Given the description of an element on the screen output the (x, y) to click on. 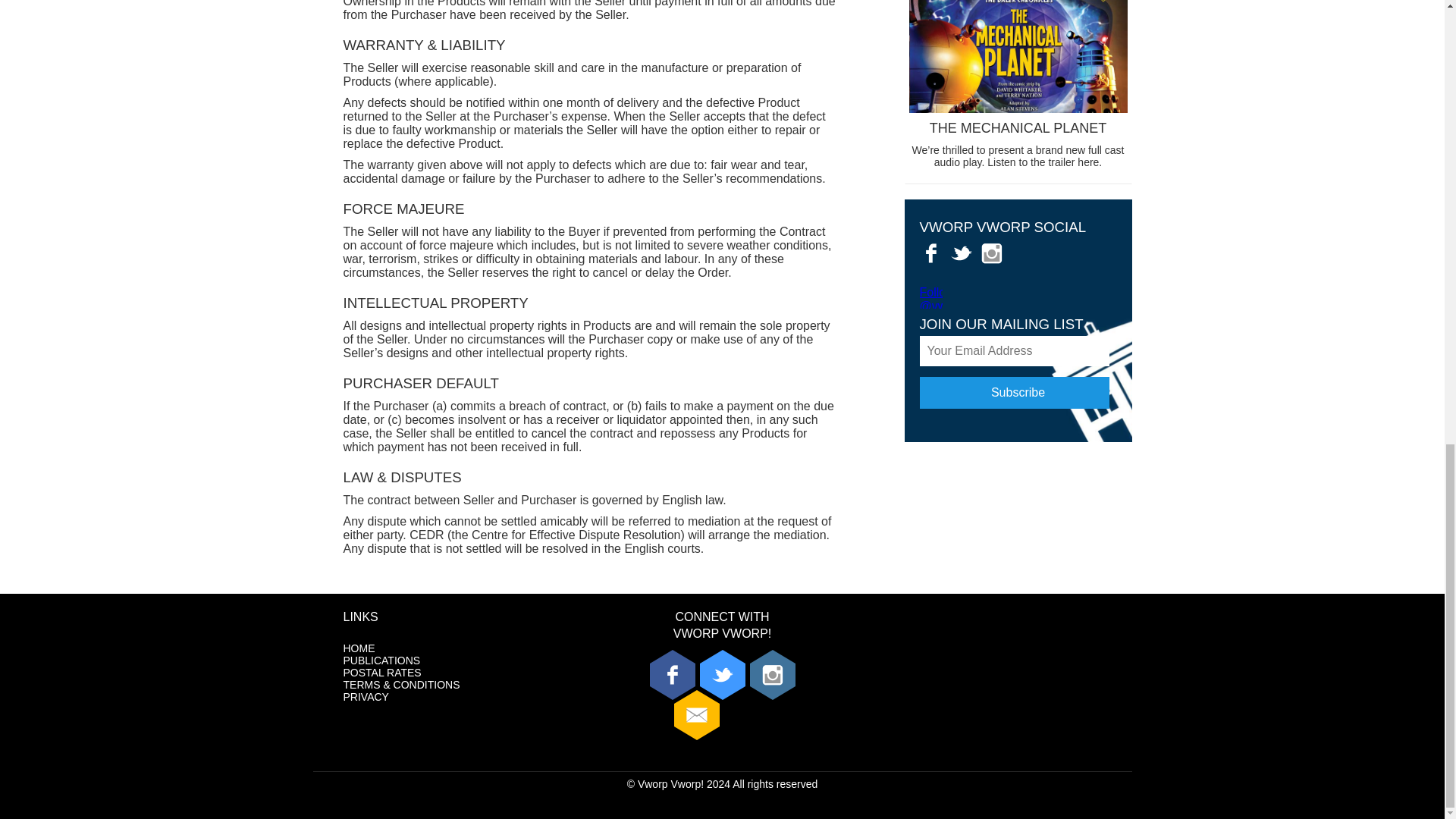
Vworp Vworp Magazine Twitter (960, 252)
PUBLICATIONS (381, 660)
PRIVACY (365, 696)
Subscribe (1013, 392)
HOME (358, 648)
Vworp Vworp Magazine Instagram (991, 252)
Vworp Vworp Magazine Facebook (930, 252)
POSTAL RATES (381, 672)
